Given the description of an element on the screen output the (x, y) to click on. 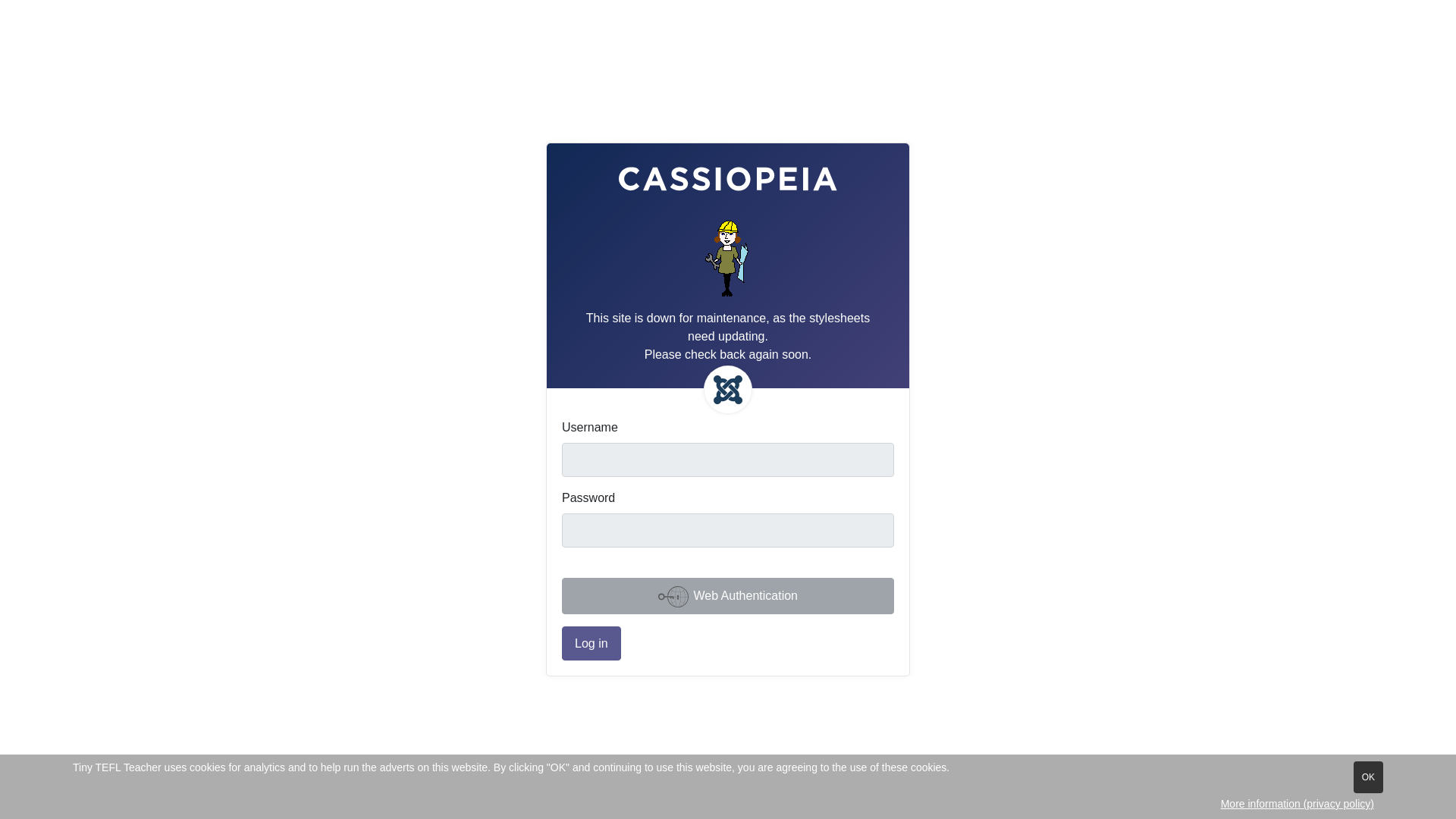
Web Authentication (727, 596)
Web Authentication (727, 596)
OK (1368, 777)
Log in (591, 643)
